Given the description of an element on the screen output the (x, y) to click on. 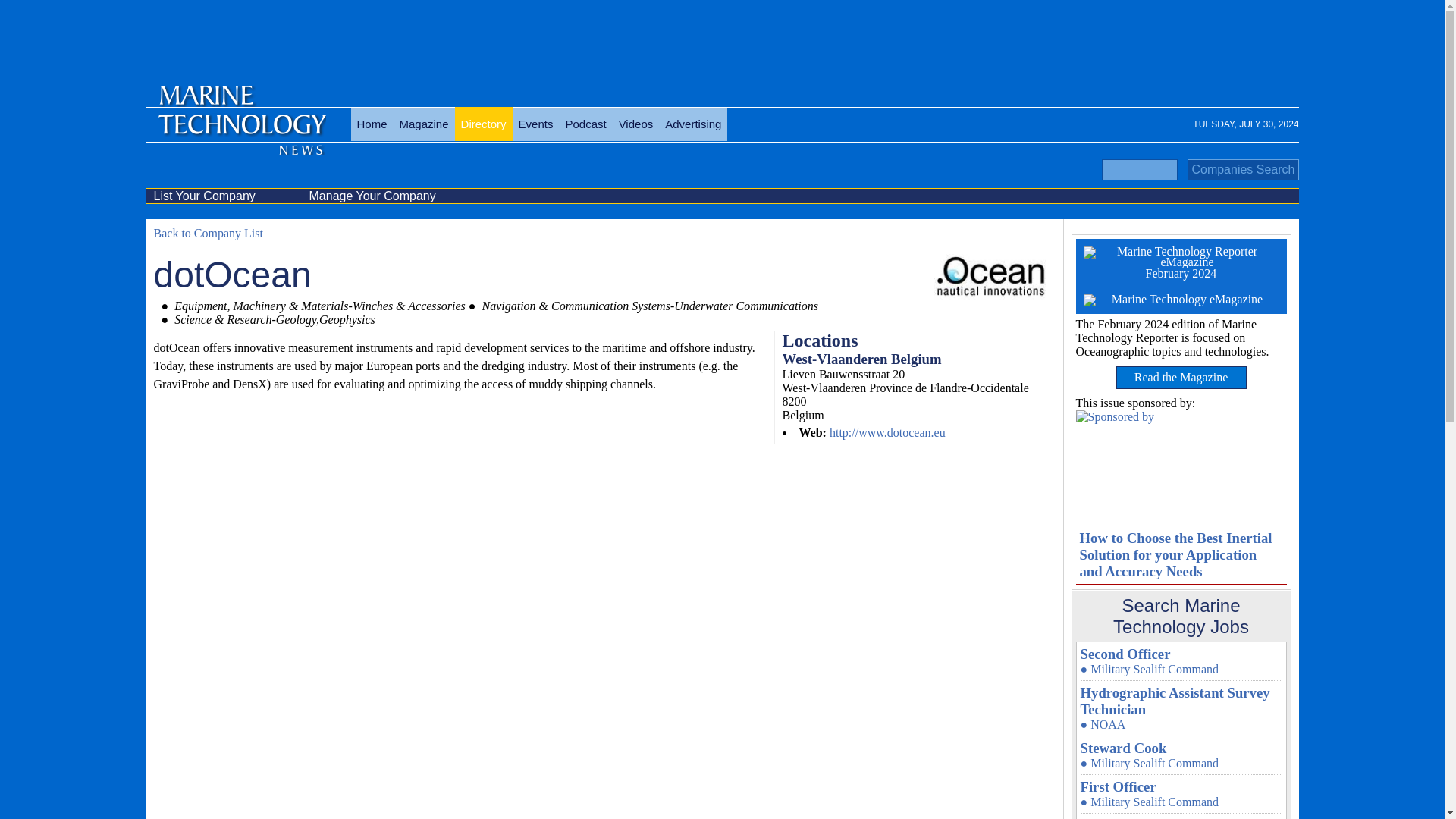
Companies Search (1243, 169)
Maritime technology news (239, 132)
Manage Your Company (379, 195)
Back to Company List (207, 232)
February 2024 (1180, 262)
Companies Search (1243, 169)
Podcast (585, 123)
Advertising (692, 123)
Home (371, 123)
Videos (635, 123)
Search Marine Technology Jobs (1180, 616)
Read the Magazine (1181, 377)
Directory (483, 123)
Magazine (423, 123)
